Given the description of an element on the screen output the (x, y) to click on. 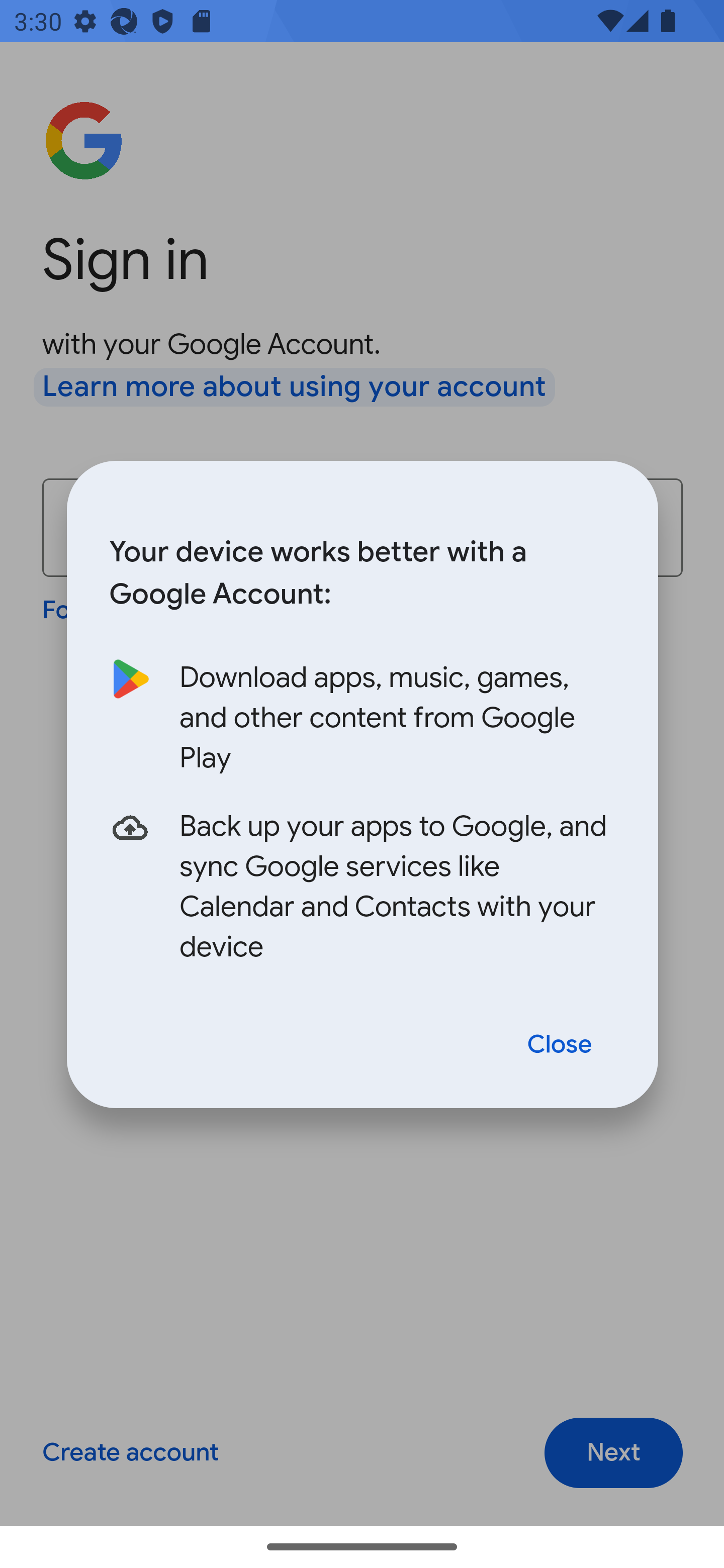
Close (560, 1044)
